Given the description of an element on the screen output the (x, y) to click on. 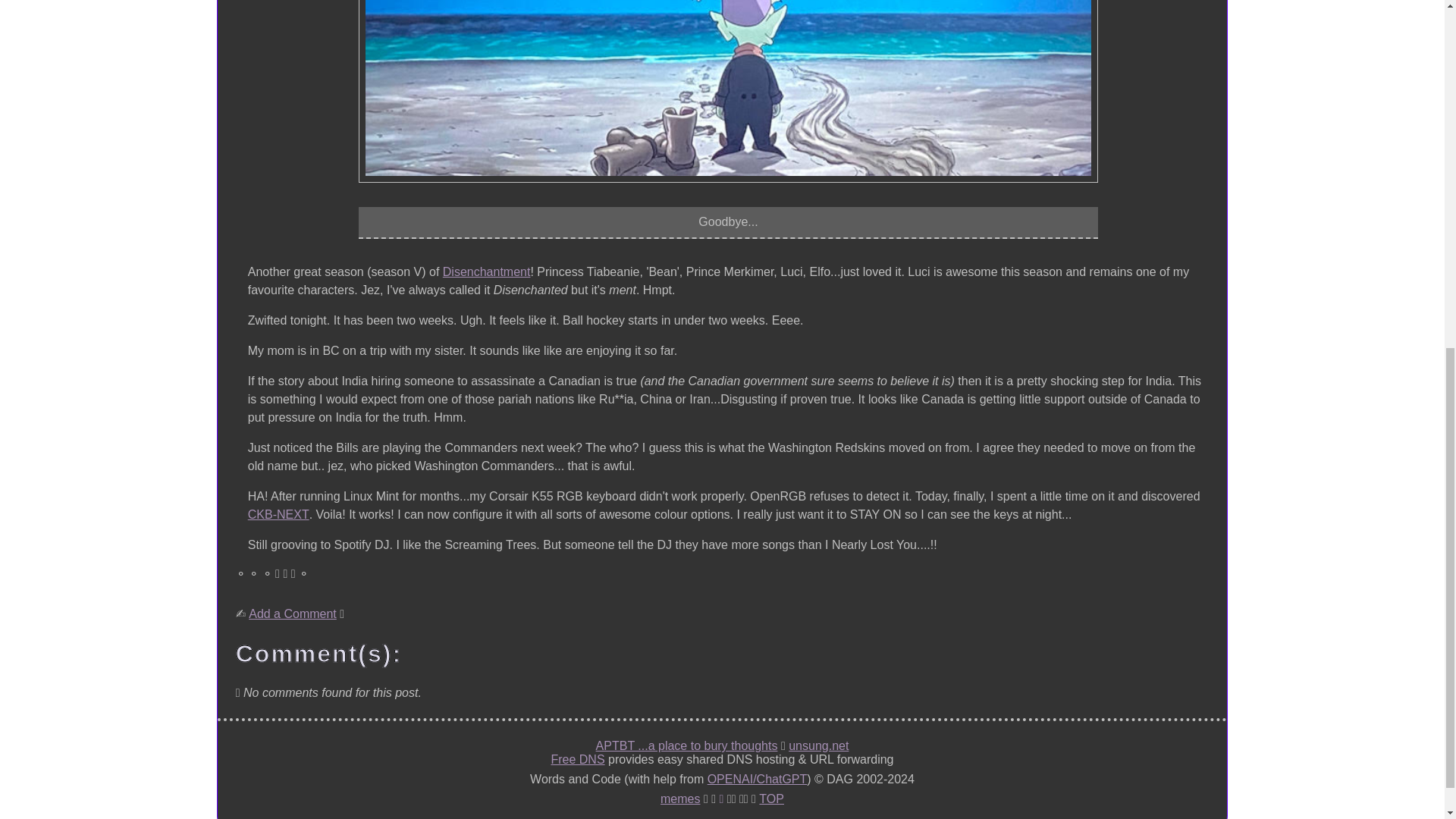
TOP (771, 798)
Disenchantment (486, 271)
Free DNS (577, 759)
APTBT ...a place to bury thoughts (686, 745)
unsung.net (818, 745)
memes (680, 798)
CKB-NEXT (277, 515)
Add a Comment (292, 613)
